Given the description of an element on the screen output the (x, y) to click on. 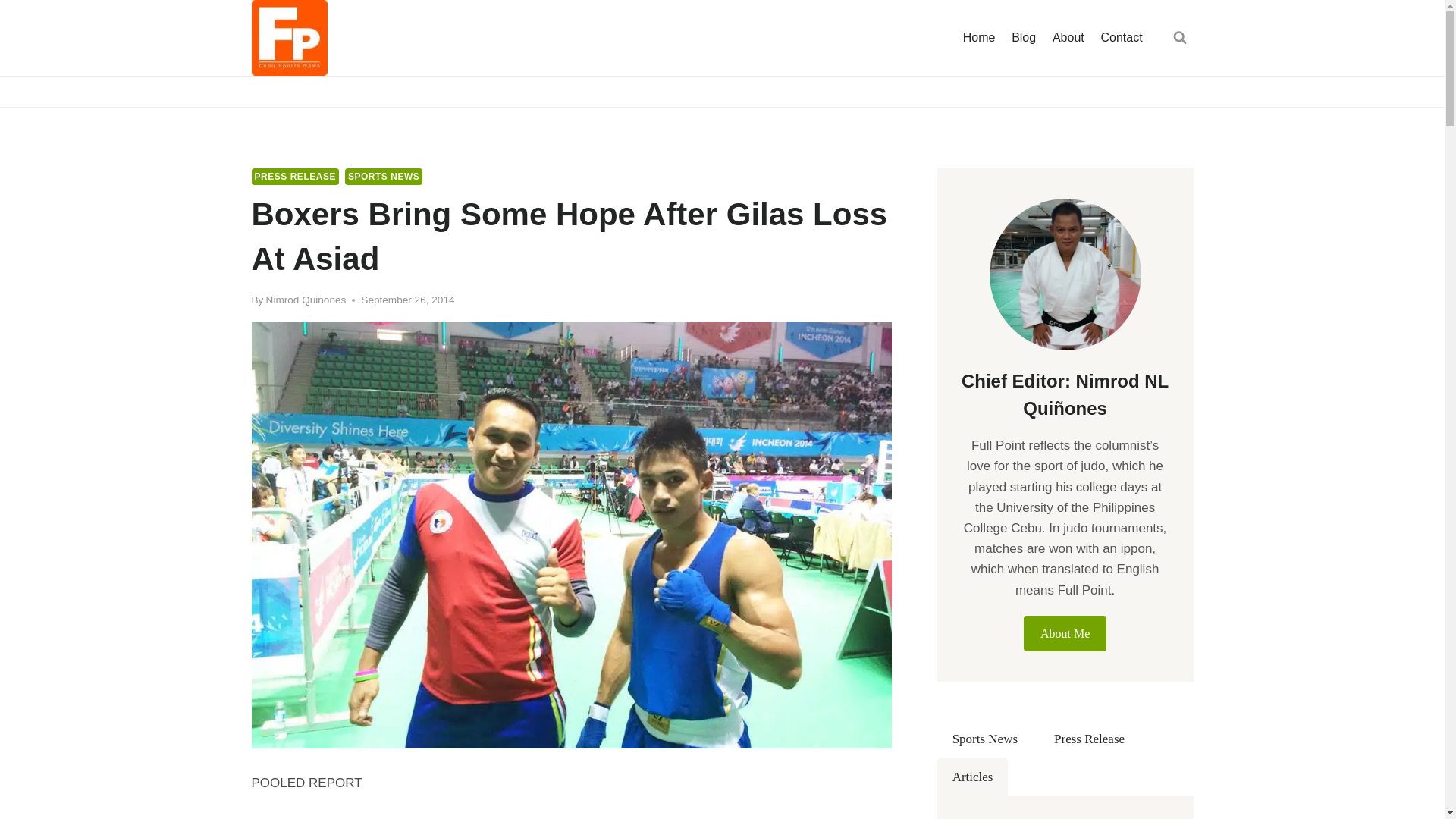
Home (979, 38)
Contact (1122, 38)
PRESS RELEASE (295, 176)
Nimrod Quinones (306, 299)
Blog (1023, 38)
SPORTS NEWS (383, 176)
About (1068, 38)
